Given the description of an element on the screen output the (x, y) to click on. 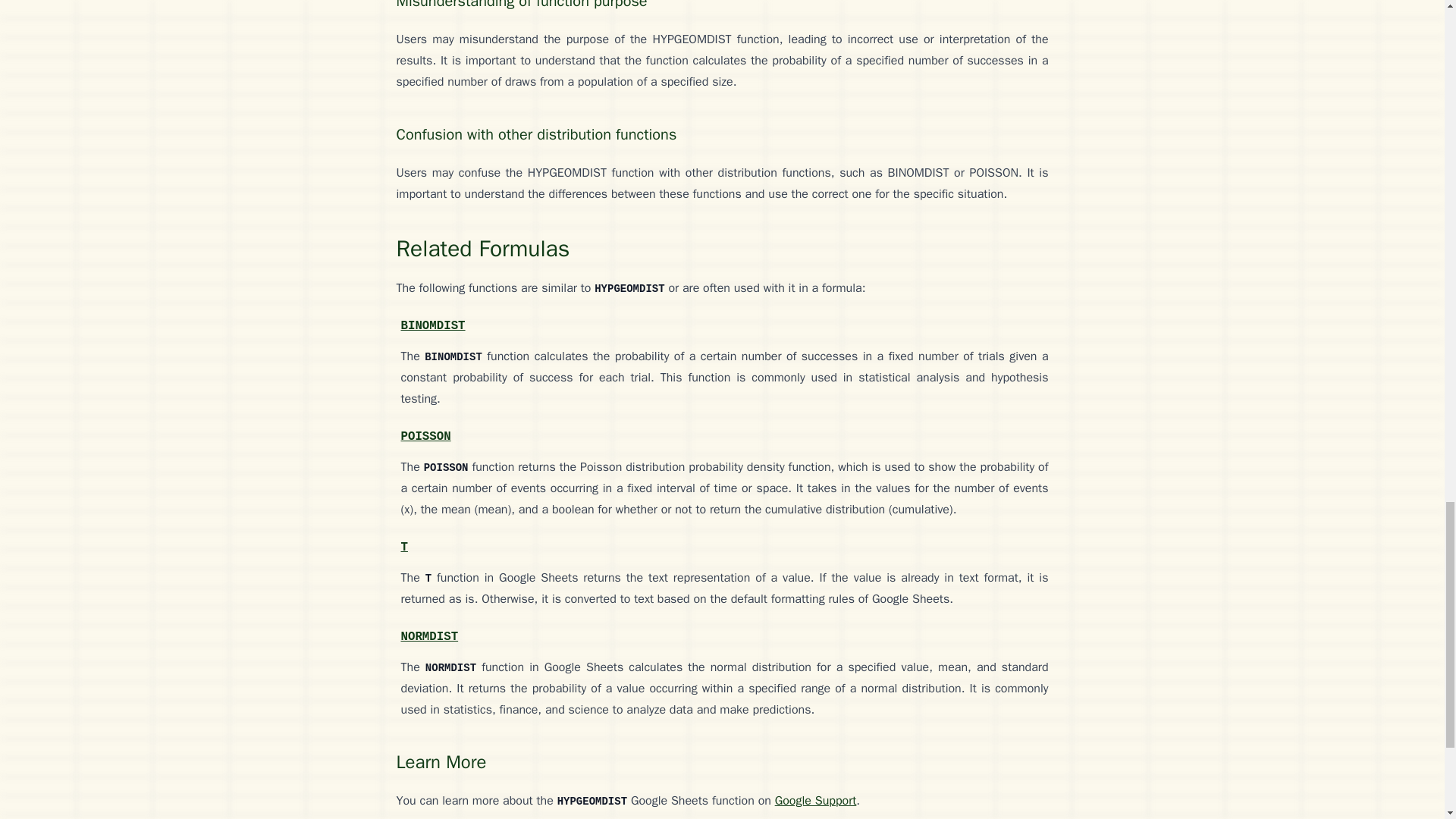
POISSON (424, 434)
NORMDIST (429, 635)
Google Support (815, 800)
BINOMDIST (432, 324)
